Given the description of an element on the screen output the (x, y) to click on. 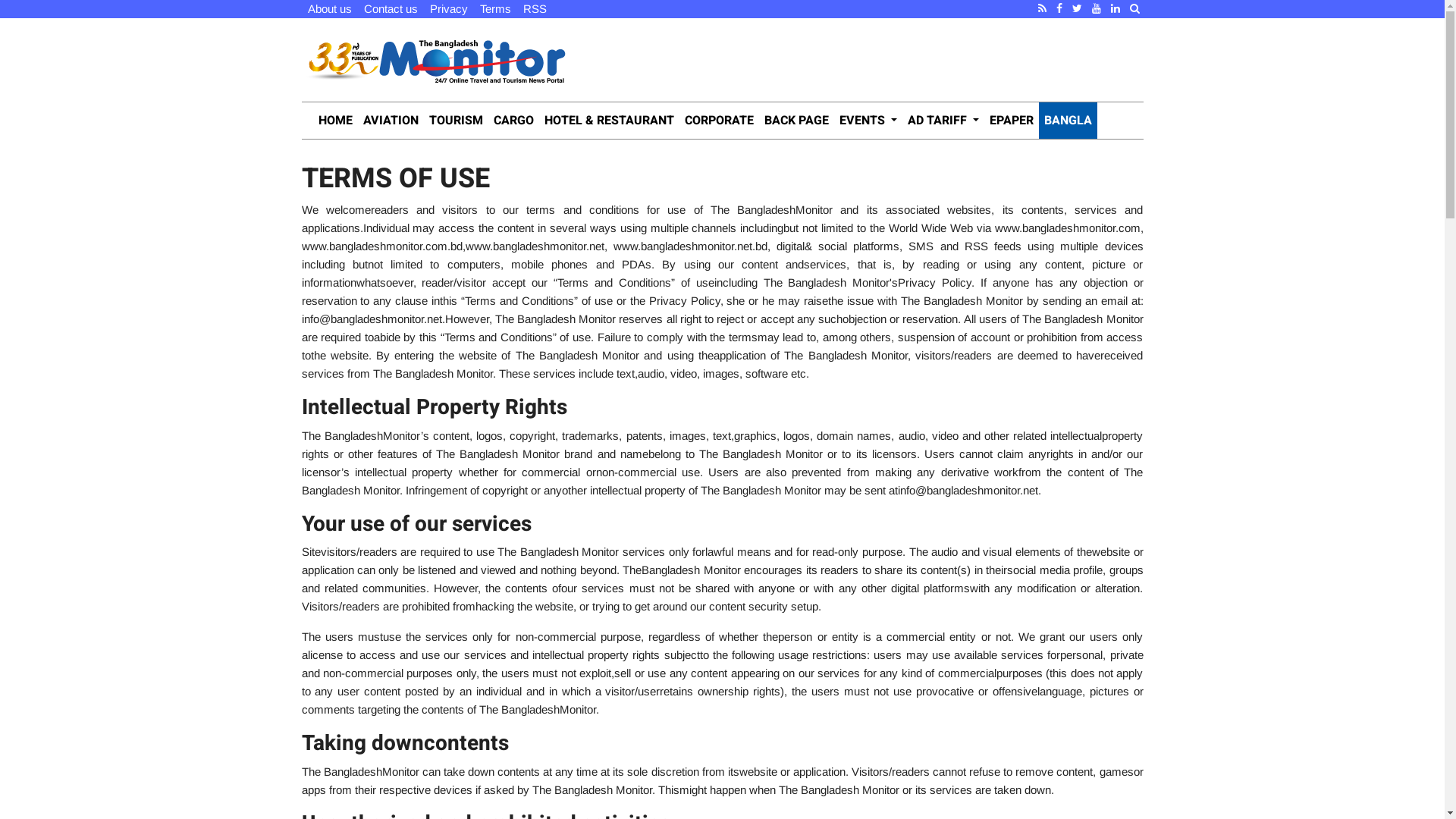
TOURISM Element type: text (455, 120)
EVENTS Element type: text (868, 120)
HOTEL & RESTAURANT Element type: text (608, 120)
AVIATION Element type: text (390, 120)
CARGO Element type: text (513, 120)
BANGLA Element type: text (1067, 120)
HOME Element type: text (334, 120)
EPAPER Element type: text (1011, 120)
AD TARIFF Element type: text (943, 120)
BACK PAGE Element type: text (795, 120)
CORPORATE Element type: text (719, 120)
